Given the description of an element on the screen output the (x, y) to click on. 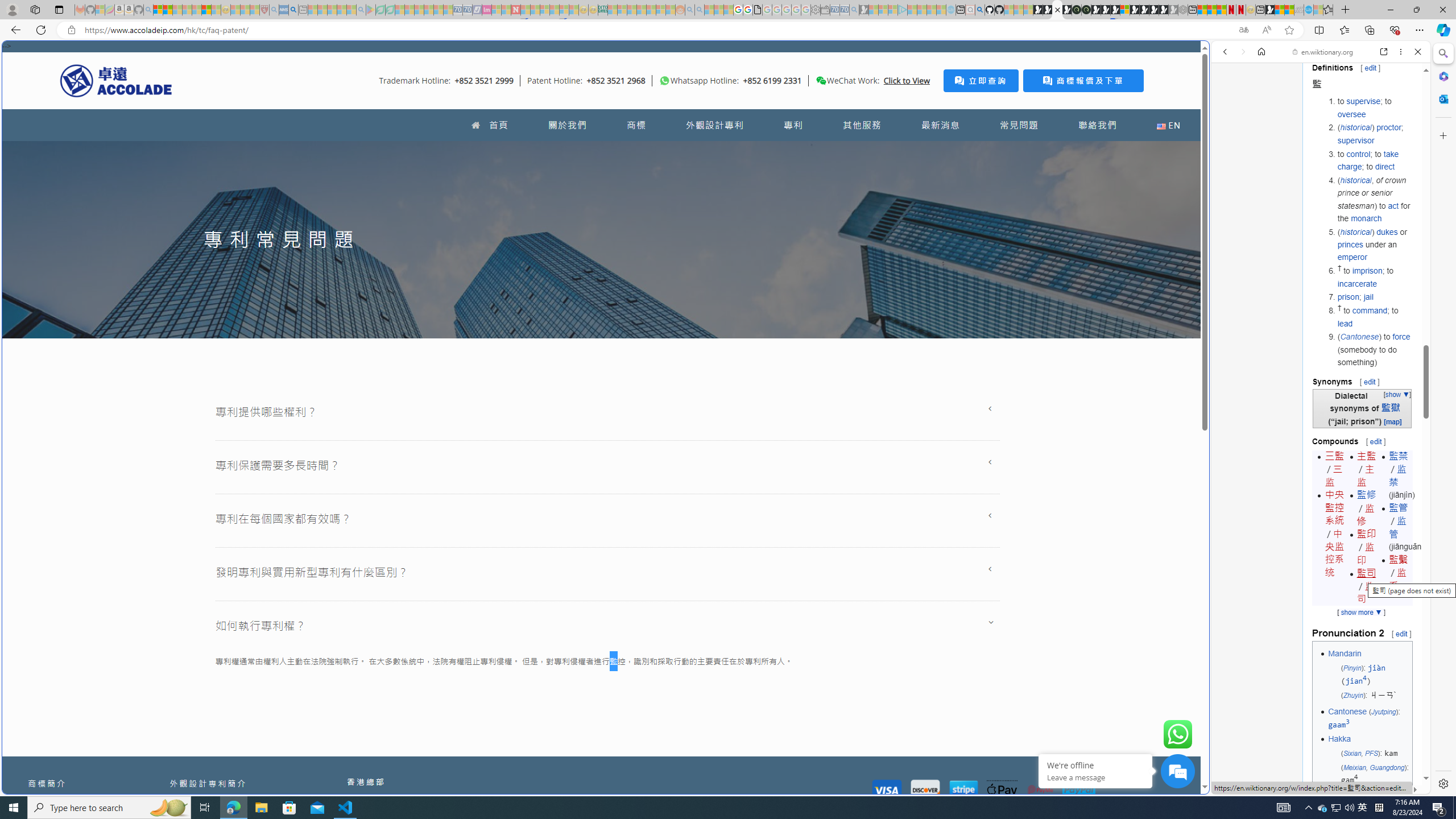
Meixian (1353, 767)
14 Common Myths Debunked By Scientific Facts - Sleeping (534, 9)
Play Cave FRVR in your browser | Games from Microsoft Start (1105, 9)
control (1358, 153)
Bing Real Estate - Home sales and rental listings - Sleeping (853, 9)
Minimize (1390, 9)
BUC (1381, 796)
princes (1349, 244)
list of asthma inhalers uk - Search - Sleeping (273, 9)
NCL Adult Asthma Inhaler Choice Guideline - Sleeping (283, 9)
Earth has six continents not seven, radical new study claims (1288, 9)
VIDEOS (1300, 130)
